Given the description of an element on the screen output the (x, y) to click on. 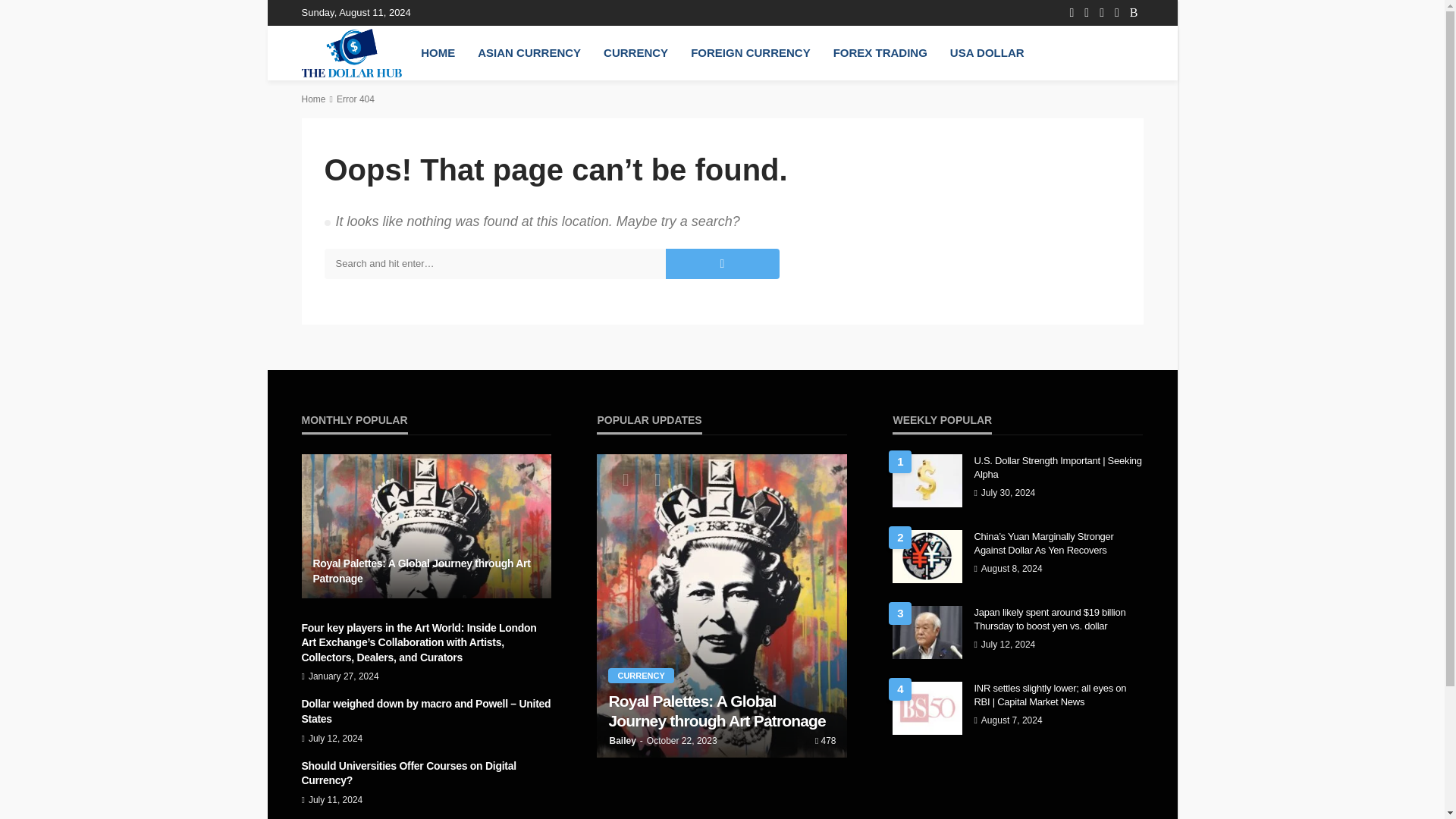
Royal Palettes: A Global Journey through Art Patronage (426, 526)
HOME (437, 52)
ASIAN CURRENCY (528, 52)
FOREX TRADING (880, 52)
FOREIGN CURRENCY (750, 52)
Bailey (621, 740)
The Dollar Hub (352, 52)
Should Universities Offer Courses on Digital Currency? (426, 773)
Royal Palettes: A Global Journey through Art Patronage (426, 571)
CURRENCY (640, 675)
